Given the description of an element on the screen output the (x, y) to click on. 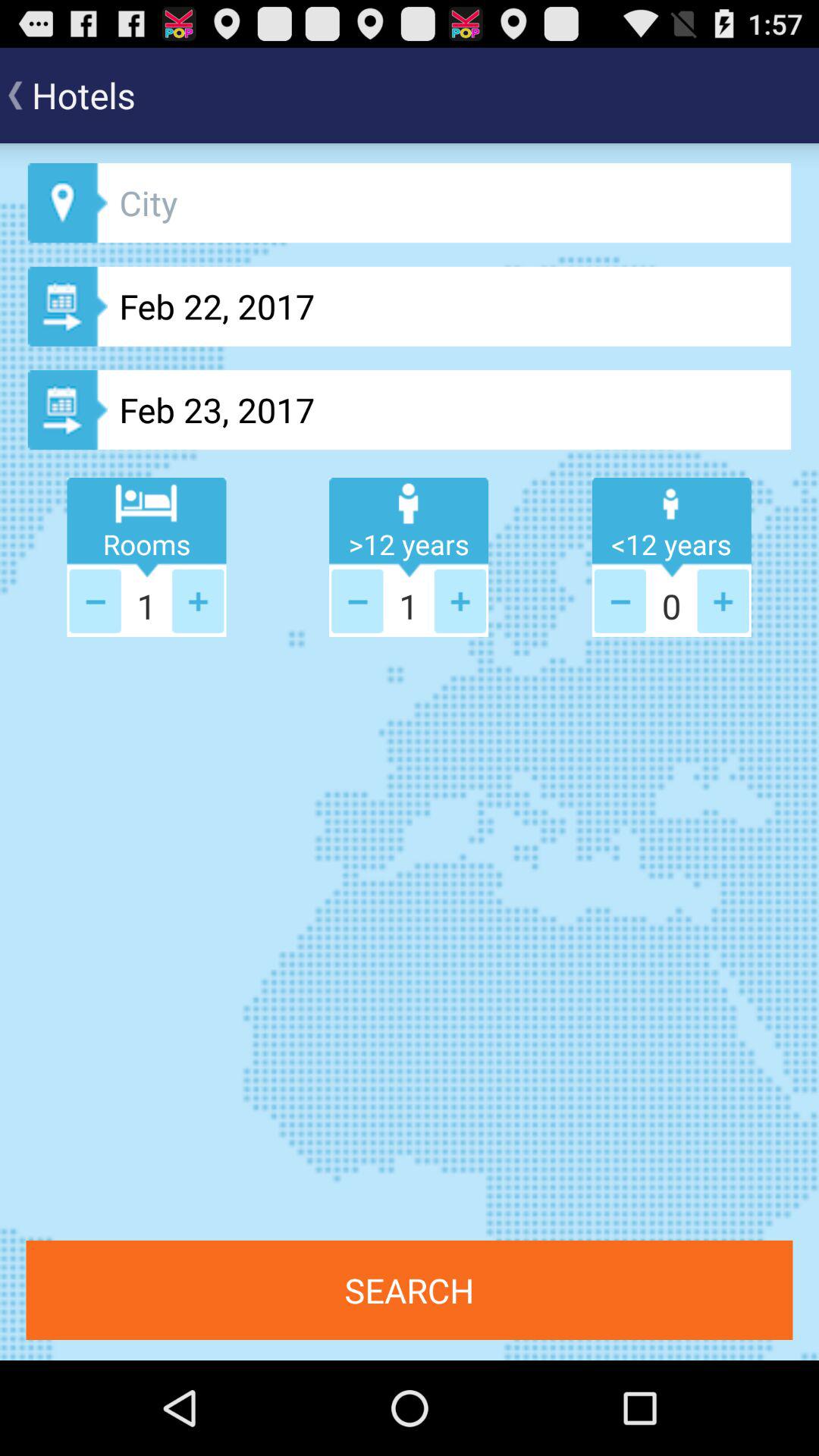
add page (95, 601)
